Given the description of an element on the screen output the (x, y) to click on. 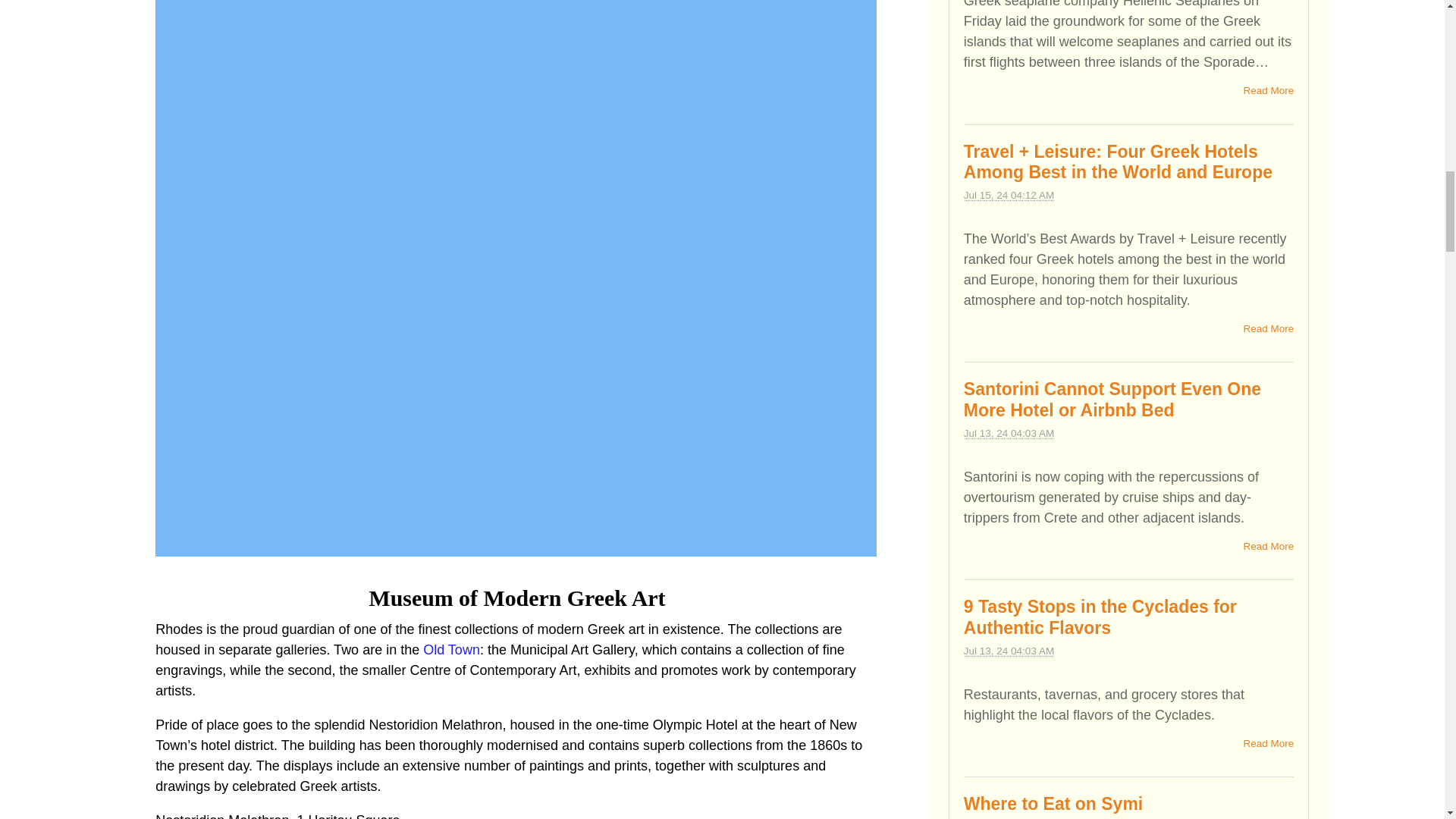
2024-07-13T04:03:05-0400 (1008, 432)
2024-07-15T04:12:14-0400 (1008, 194)
2024-07-13T04:03:05-0400 (1008, 650)
